Given the description of an element on the screen output the (x, y) to click on. 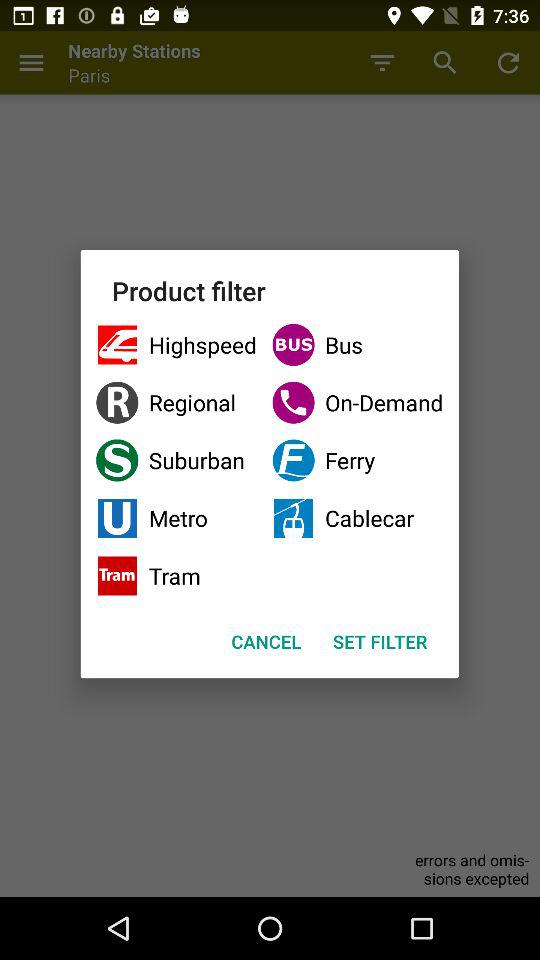
select the item next to bus checkbox (176, 344)
